Given the description of an element on the screen output the (x, y) to click on. 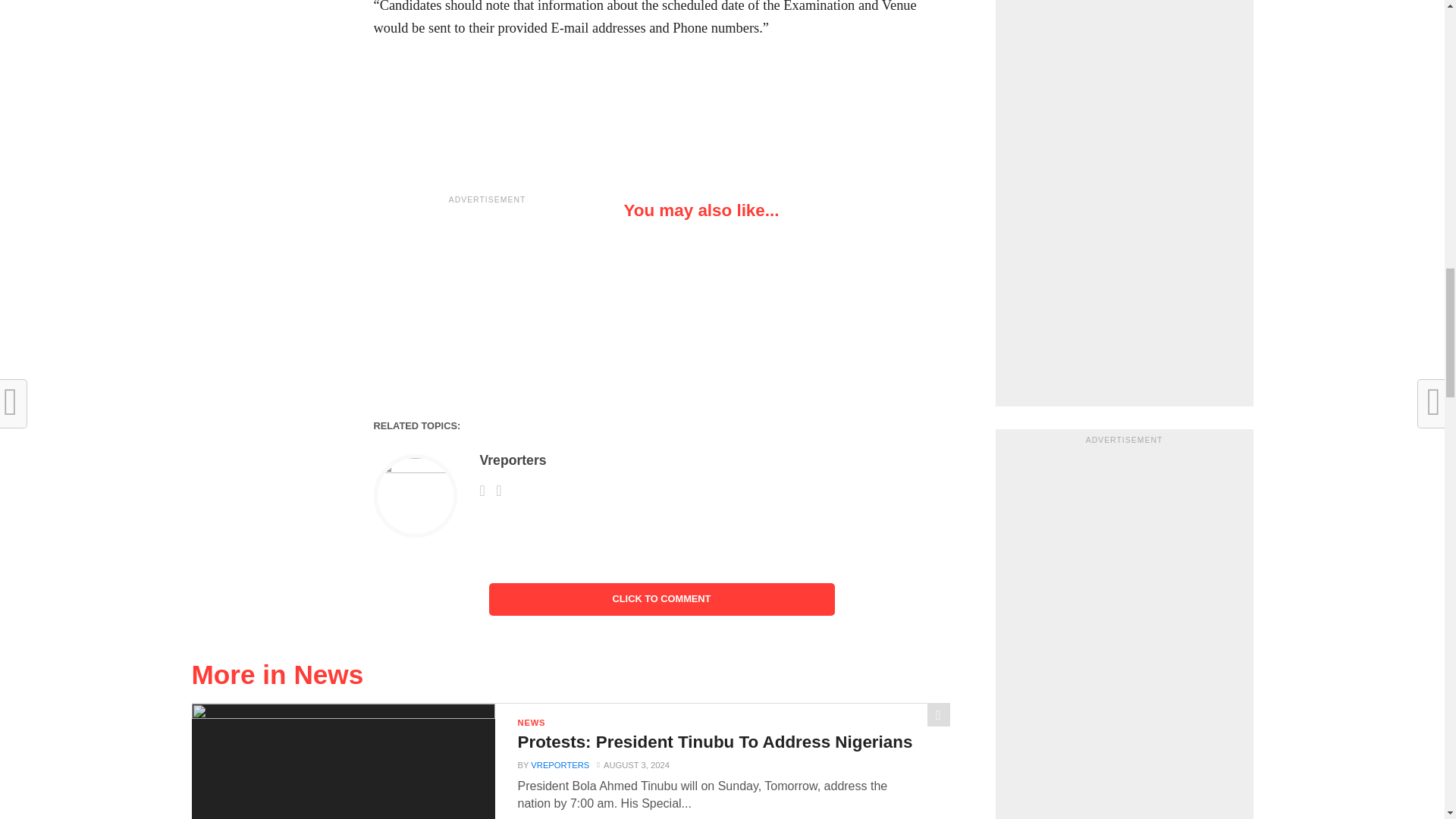
Posts by Vreporters (512, 459)
Vreporters (512, 459)
Posts by Vreporters (560, 764)
